Given the description of an element on the screen output the (x, y) to click on. 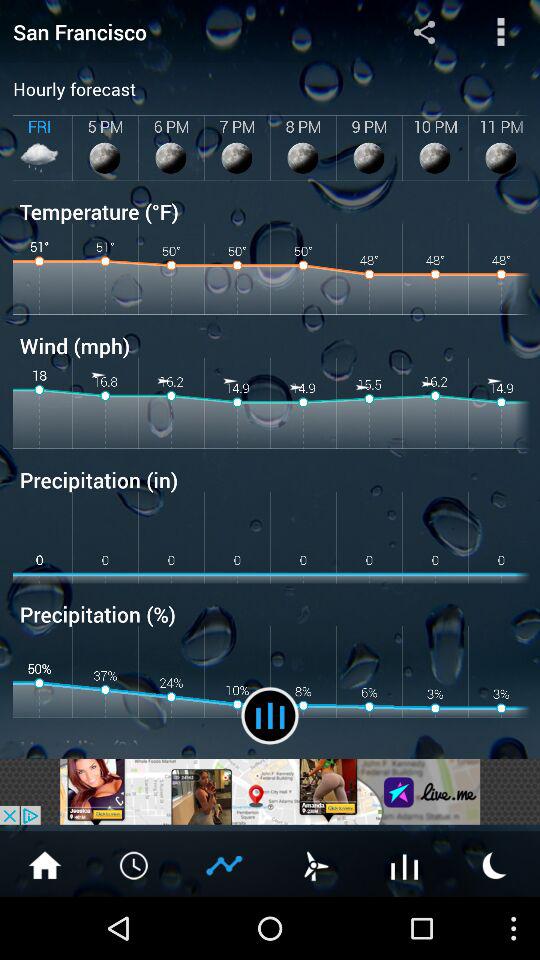
time (135, 864)
